Given the description of an element on the screen output the (x, y) to click on. 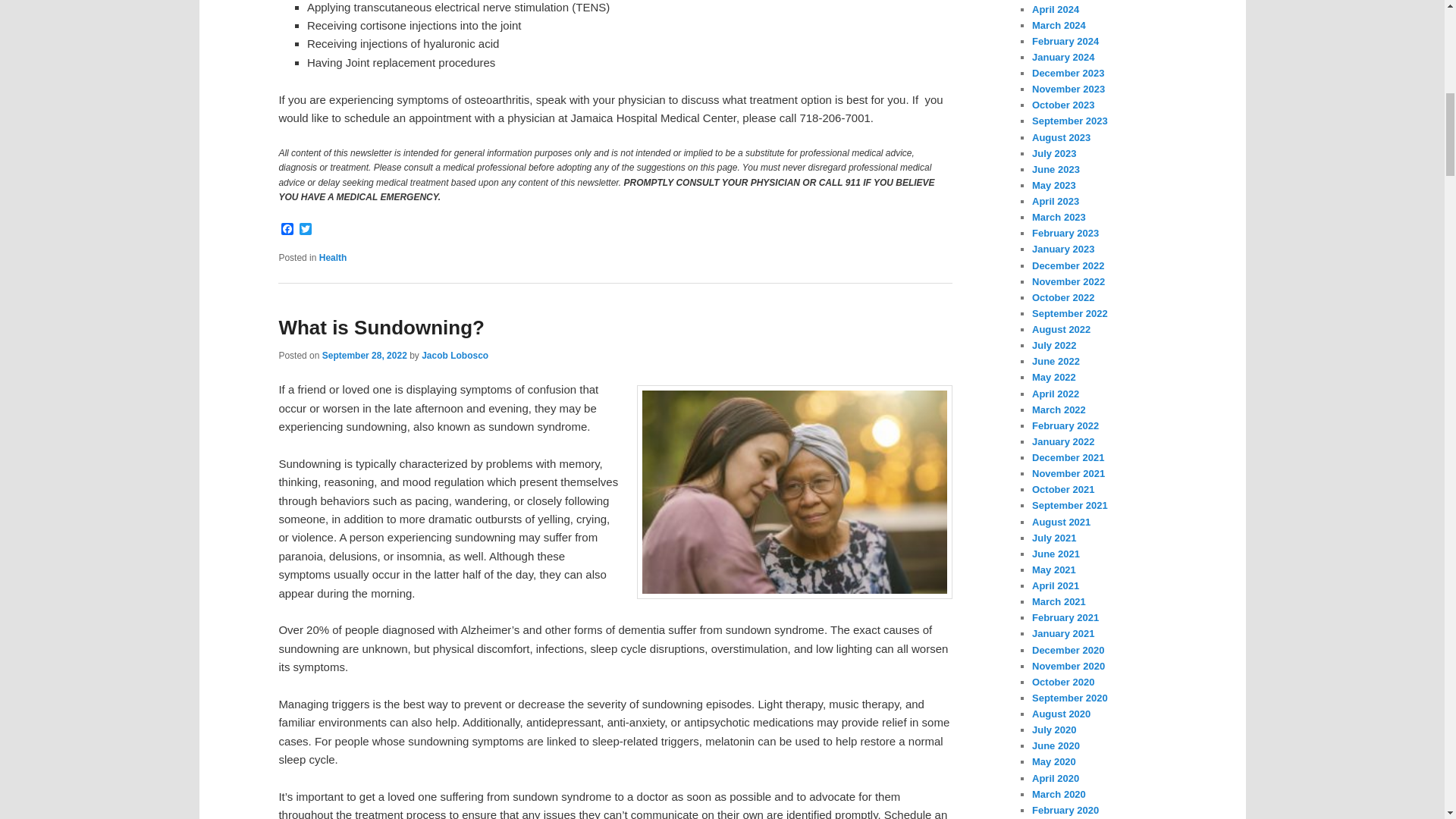
View all posts by Jacob Lobosco (454, 355)
Facebook (287, 229)
8:24 pm (364, 355)
Twitter (305, 229)
Twitter (305, 229)
Facebook (287, 229)
Jacob Lobosco (454, 355)
What is Sundowning? (381, 327)
September 28, 2022 (364, 355)
Health (332, 256)
